Given the description of an element on the screen output the (x, y) to click on. 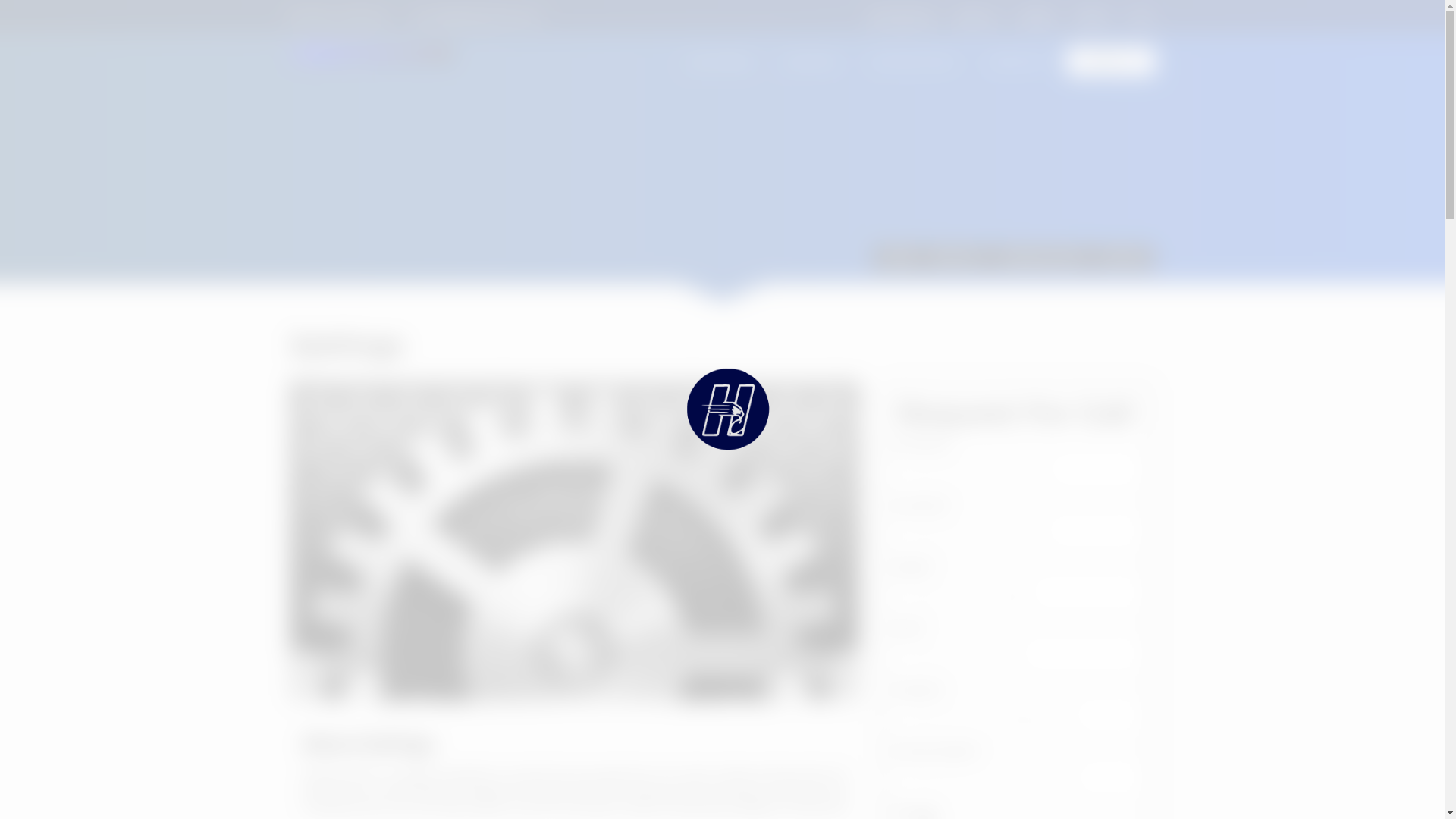
PRODUCTS Element type: text (956, 257)
ABOUT US Element type: text (976, 18)
BLOG Element type: text (1141, 18)
HOME Element type: text (898, 257)
CONTACT US Element type: text (1110, 61)
CAREERS Element type: text (1035, 18)
GLOBAL SITE Element type: text (903, 18)
HAWKSCOOL-ERP Element type: text (1040, 257)
SERVICES Element type: text (810, 61)
CONTACT US Element type: text (1109, 61)
INDUSTRIES Element type: text (719, 61)
PRODUCTS Element type: text (1018, 61)
TECHNOLOGIES Element type: text (912, 61)
  sales@hawkscode.com.au Element type: text (476, 16)
SITEMAP Element type: text (1091, 18)
